Given the description of an element on the screen output the (x, y) to click on. 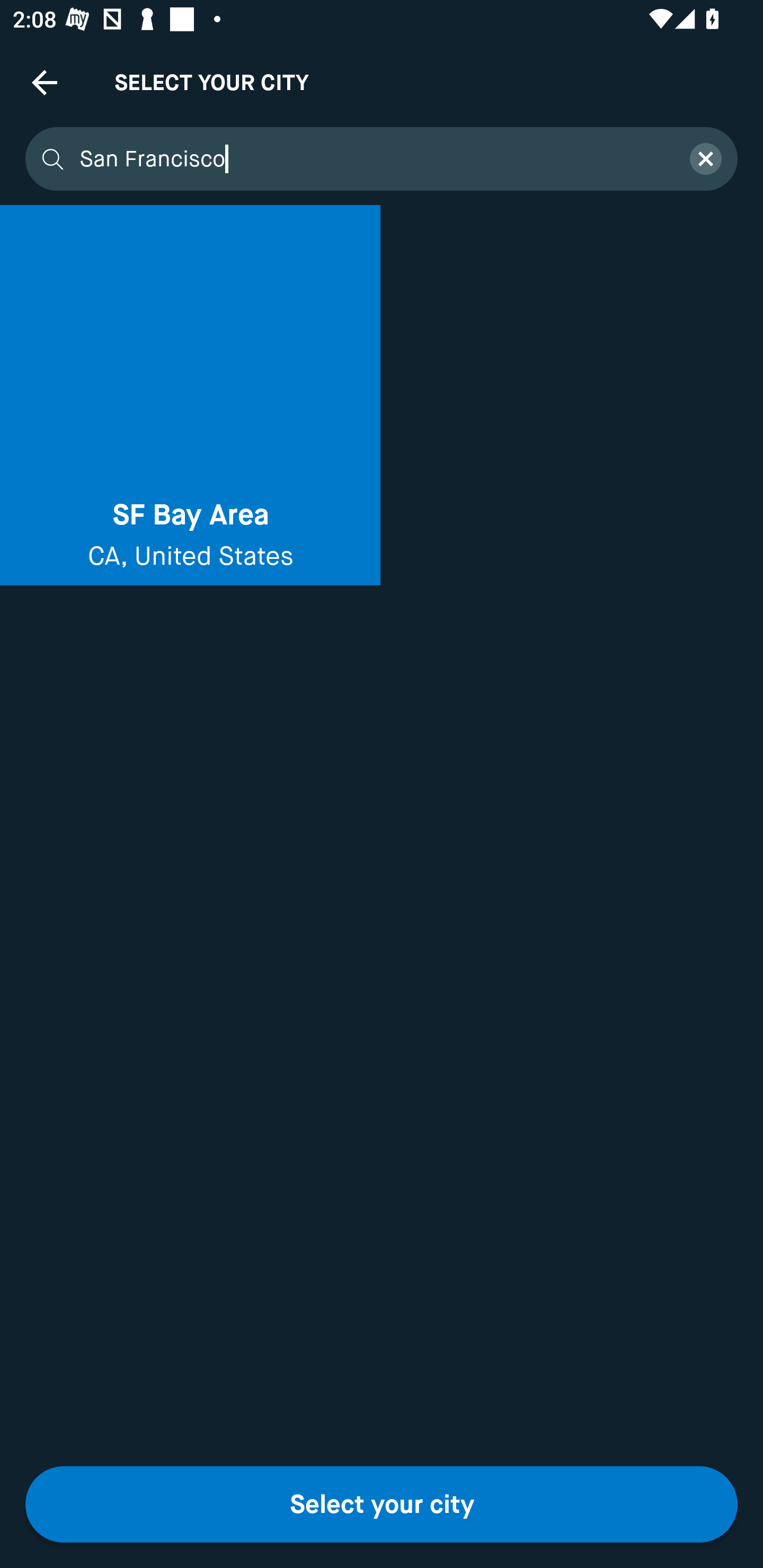
Navigate up (44, 82)
San Francisco (373, 159)
SF Bay Area CA, United States (190, 394)
Select your city (381, 1504)
